Given the description of an element on the screen output the (x, y) to click on. 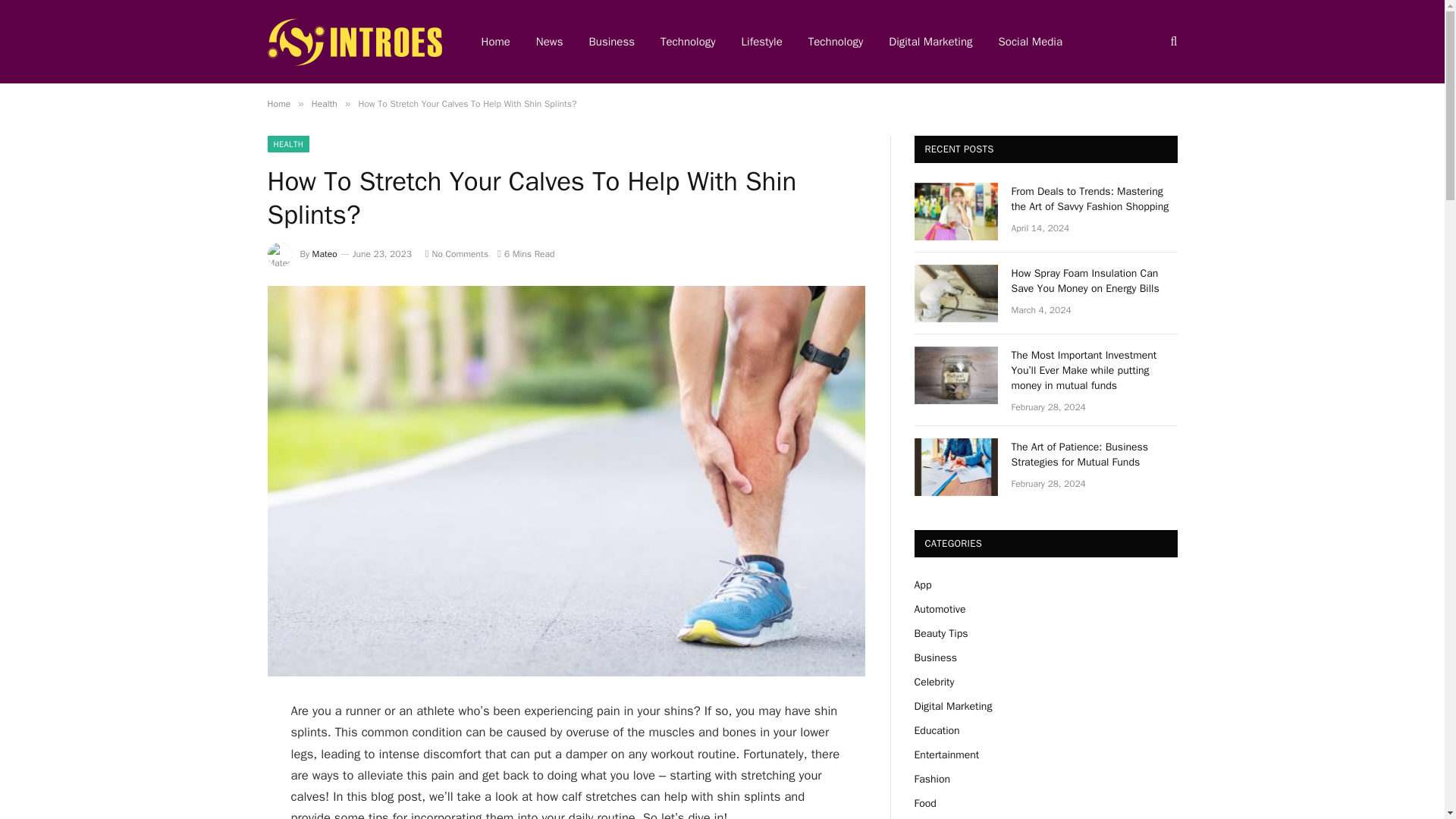
Home (495, 41)
The Art of Patience: Business Strategies for Mutual Funds (1094, 454)
Technology (835, 41)
Automotive (940, 608)
Health (324, 103)
Beauty Tips (941, 633)
introes.com (353, 41)
Technology (688, 41)
Home (277, 103)
News (549, 41)
Celebrity (934, 681)
Posts by Mateo (325, 254)
Lifestyle (761, 41)
